Given the description of an element on the screen output the (x, y) to click on. 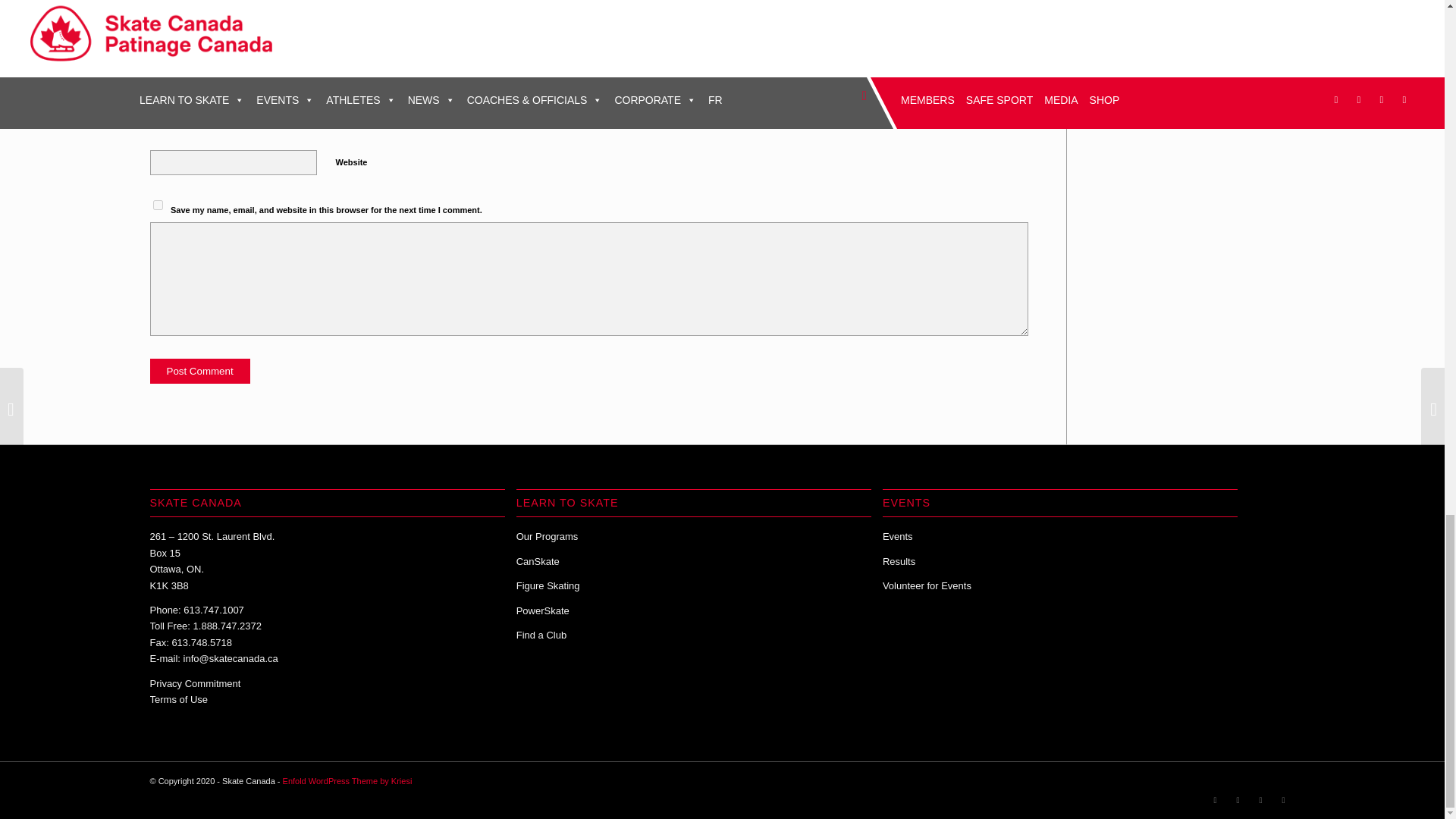
Post Comment (199, 371)
yes (157, 204)
